Given the description of an element on the screen output the (x, y) to click on. 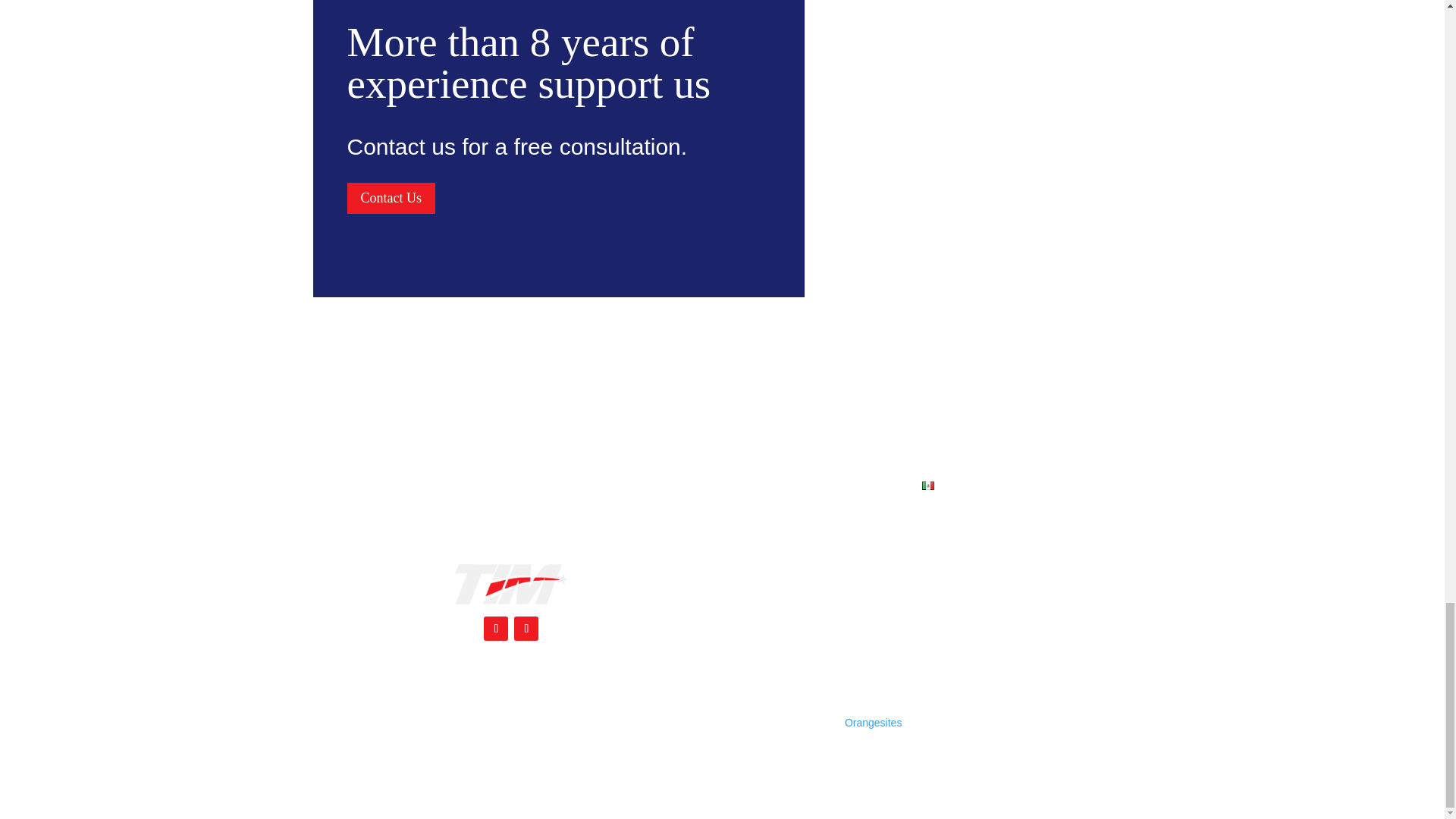
Follow on LinkedIn (525, 628)
Follow on Facebook (495, 628)
Contact Us (391, 197)
Request a Quote (860, 487)
tim-logo-white (510, 584)
Track your Load (752, 487)
Services (659, 487)
About Us (586, 487)
Home (527, 487)
